Given the description of an element on the screen output the (x, y) to click on. 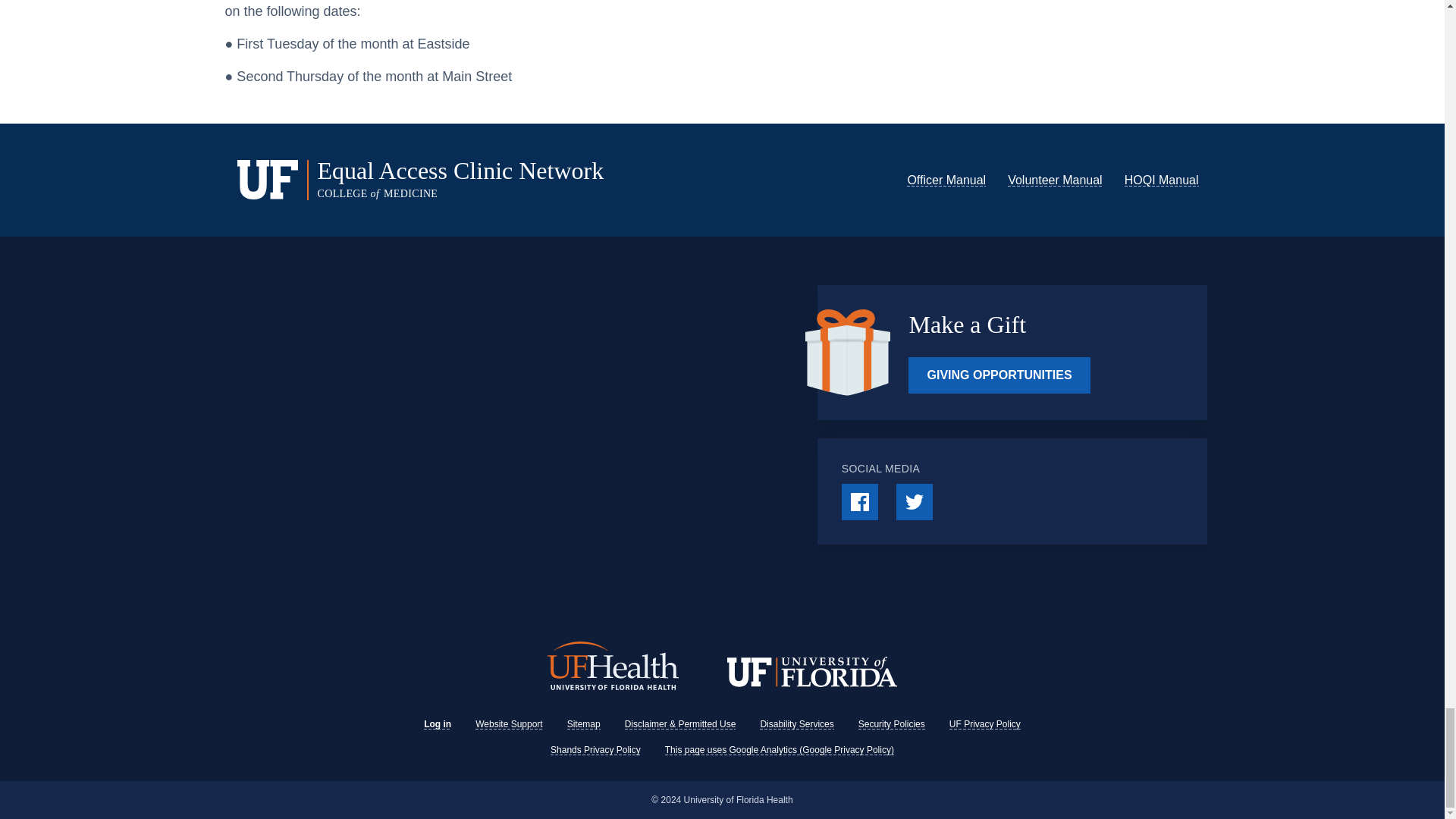
Officer Manual (946, 179)
Security Policies (891, 724)
Sitemap (583, 724)
Disability Services (796, 724)
Shands Privacy Policy (595, 749)
Volunteer Manual (1054, 179)
UF Privacy Policy (984, 724)
Log in (437, 724)
Website Support (509, 724)
HOQI Manual (1161, 179)
